Given the description of an element on the screen output the (x, y) to click on. 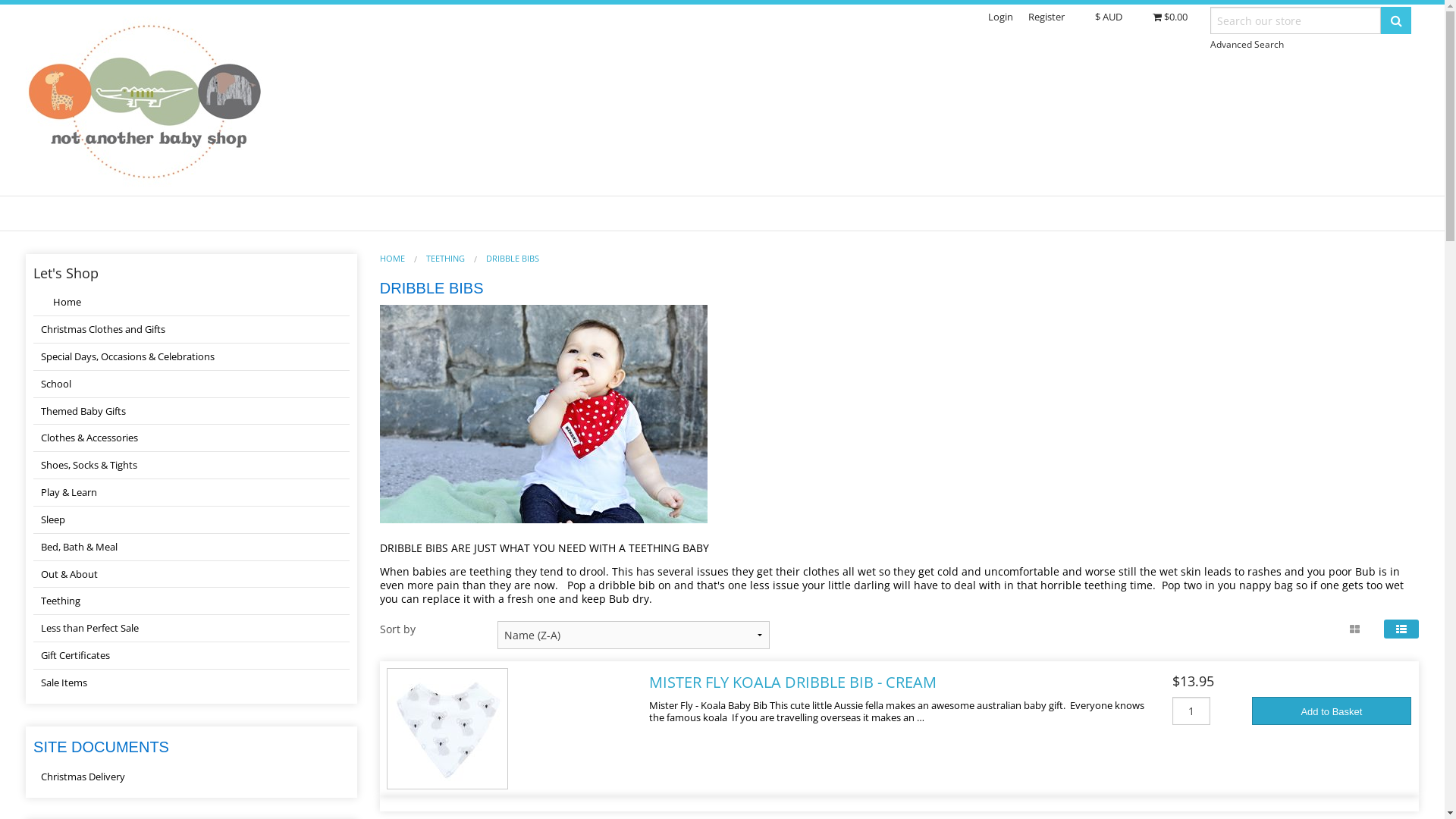
Home Element type: text (191, 302)
Special Days, Occasions & Celebrations Element type: text (191, 356)
Advanced Search Element type: text (1246, 43)
Gift Certificates Element type: text (191, 655)
Play & Learn Element type: text (191, 492)
DRIBBLE BIBS Element type: text (512, 257)
Sleep Element type: text (191, 519)
TEETHING Element type: text (445, 257)
Teething Element type: text (191, 601)
$ AUD Element type: text (1108, 16)
Christmas Clothes and Gifts Element type: text (191, 329)
Login Element type: text (1000, 16)
Bed, Bath & Meal Element type: text (191, 547)
Clothes & Accessories Element type: text (191, 437)
Sale Items Element type: text (191, 682)
Less than Perfect Sale Element type: text (191, 628)
$0.00 Element type: text (1169, 16)
Mister Fly Koala Dribble Bib - Cream Element type: hover (447, 727)
Out & About Element type: text (191, 574)
Add to Basket Element type: text (1331, 710)
School Element type: text (191, 384)
Shoes, Socks & Tights Element type: text (191, 465)
Search Element type: text (1395, 20)
HOME Element type: text (391, 257)
Sort Element type: text (18, 10)
Register Element type: text (1046, 16)
Themed Baby Gifts Element type: text (191, 411)
MISTER FLY KOALA DRIBBLE BIB - CREAM Element type: text (792, 681)
Christmas Delivery Element type: text (191, 776)
